Given the description of an element on the screen output the (x, y) to click on. 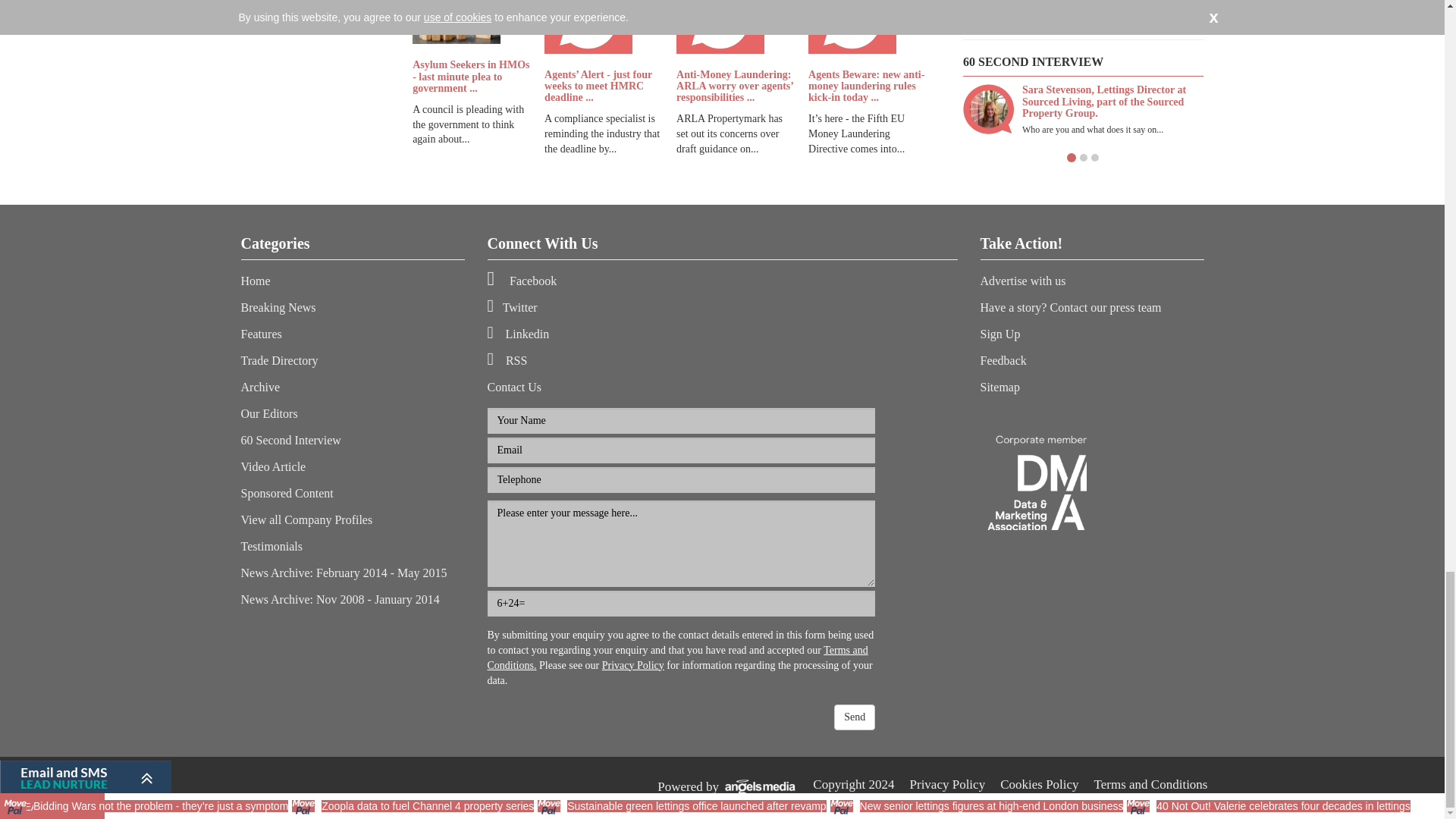
Send (854, 717)
